Given the description of an element on the screen output the (x, y) to click on. 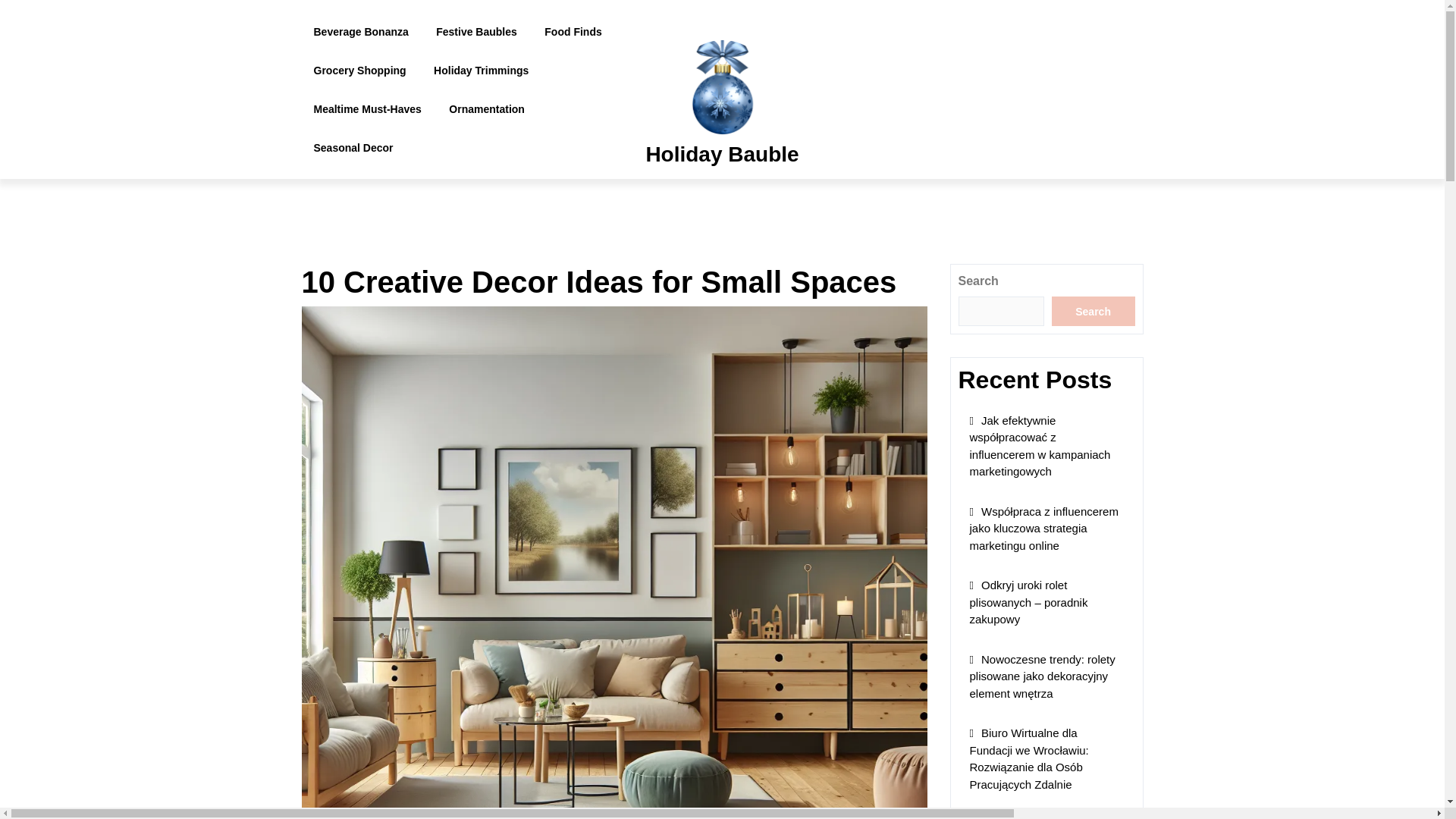
Ornamentation (486, 109)
Holiday Trimmings (481, 70)
Mealtime Must-Haves (367, 109)
Grocery Shopping (360, 70)
Beverage Bonanza (360, 32)
Festive Baubles (476, 32)
Seasonal Decor (353, 147)
Food Finds (572, 32)
